Given the description of an element on the screen output the (x, y) to click on. 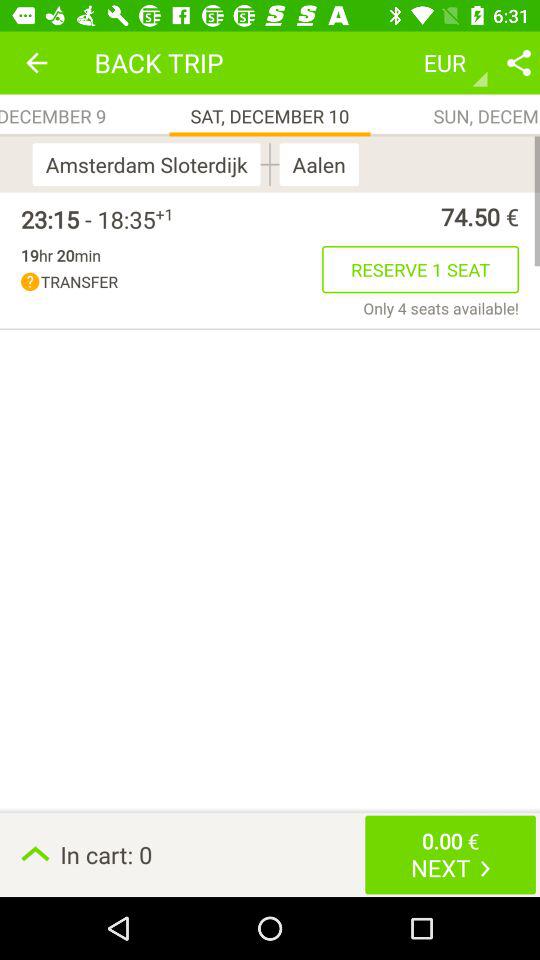
use it to share what is on the screen (519, 62)
